Given the description of an element on the screen output the (x, y) to click on. 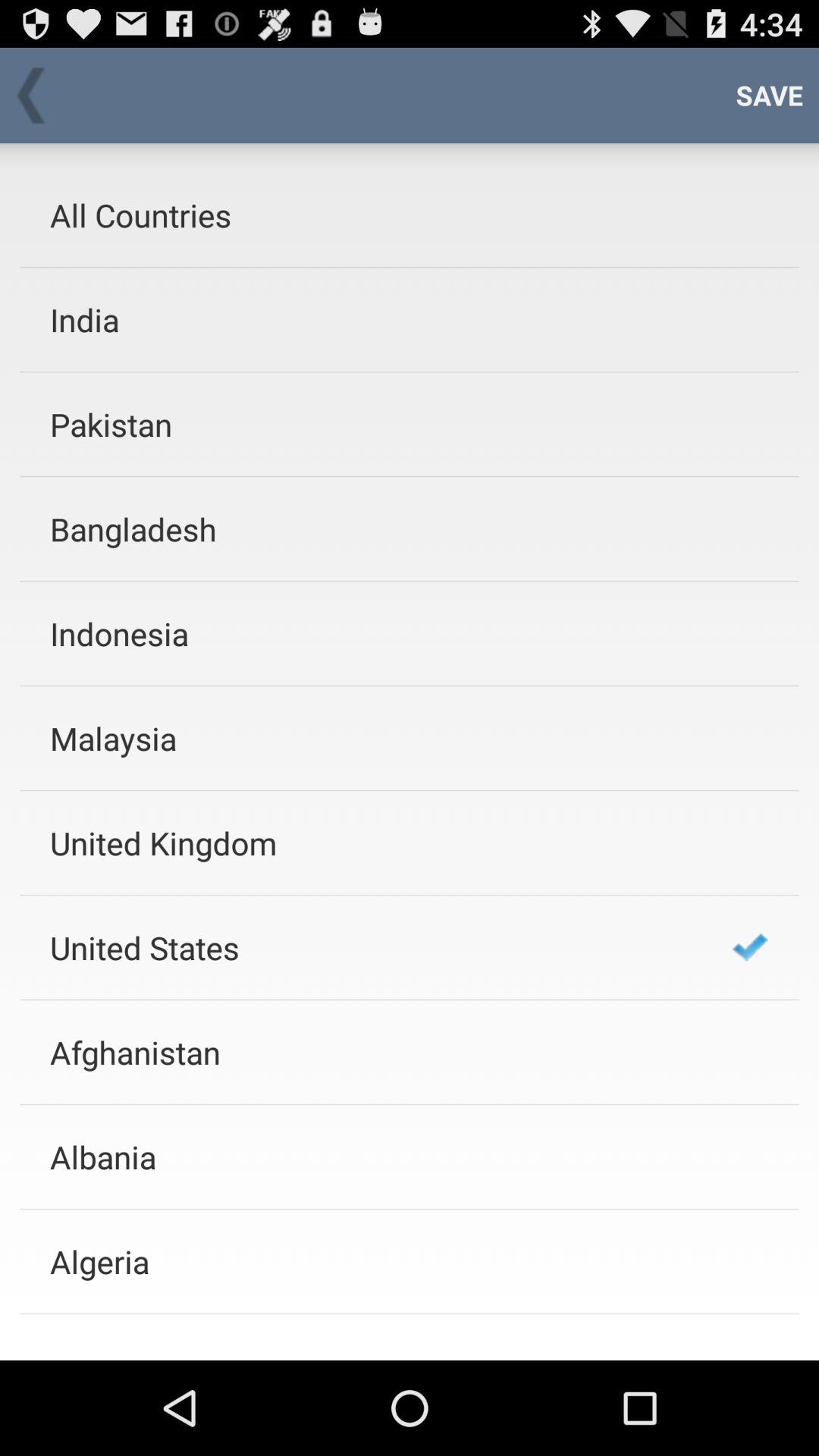
select the tick mark icon on the web page (749, 946)
